Given the description of an element on the screen output the (x, y) to click on. 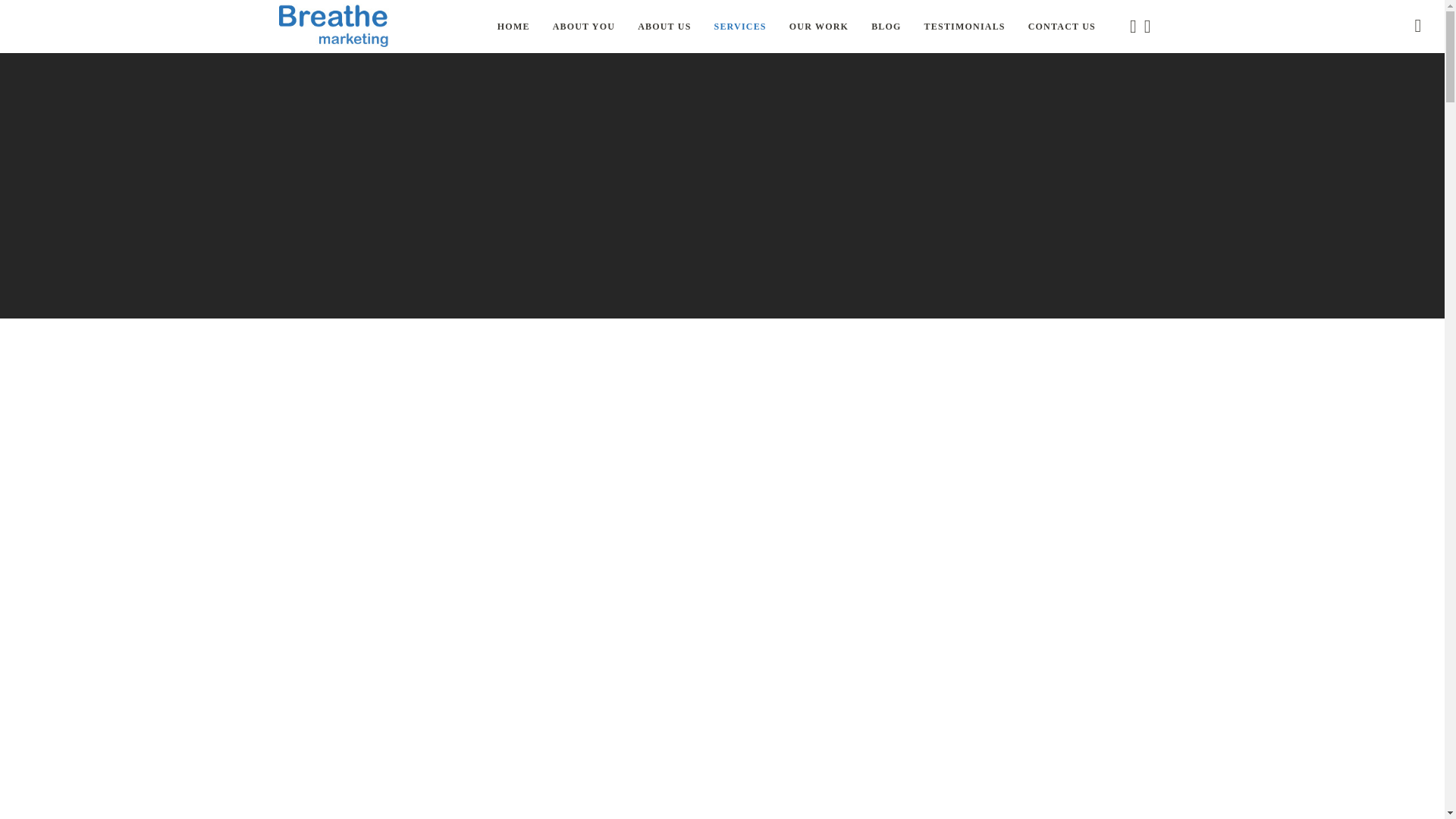
CONTACT US (1061, 26)
OUR WORK (818, 26)
ABOUT US (663, 26)
SERVICES (740, 26)
ABOUT YOU (583, 26)
TESTIMONIALS (965, 26)
Breathe Marketing (334, 26)
